Given the description of an element on the screen output the (x, y) to click on. 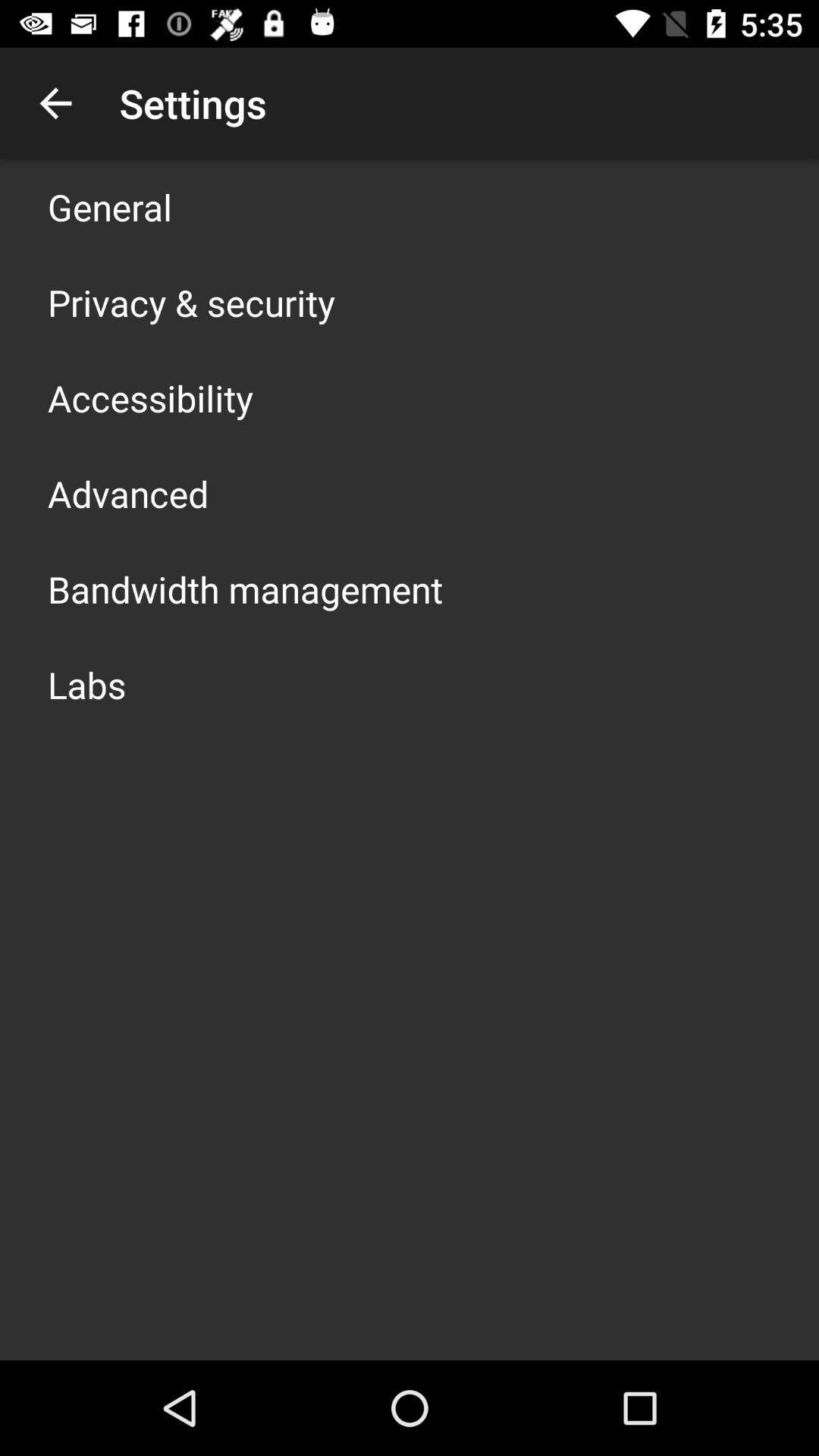
turn off the app below privacy & security icon (150, 397)
